Given the description of an element on the screen output the (x, y) to click on. 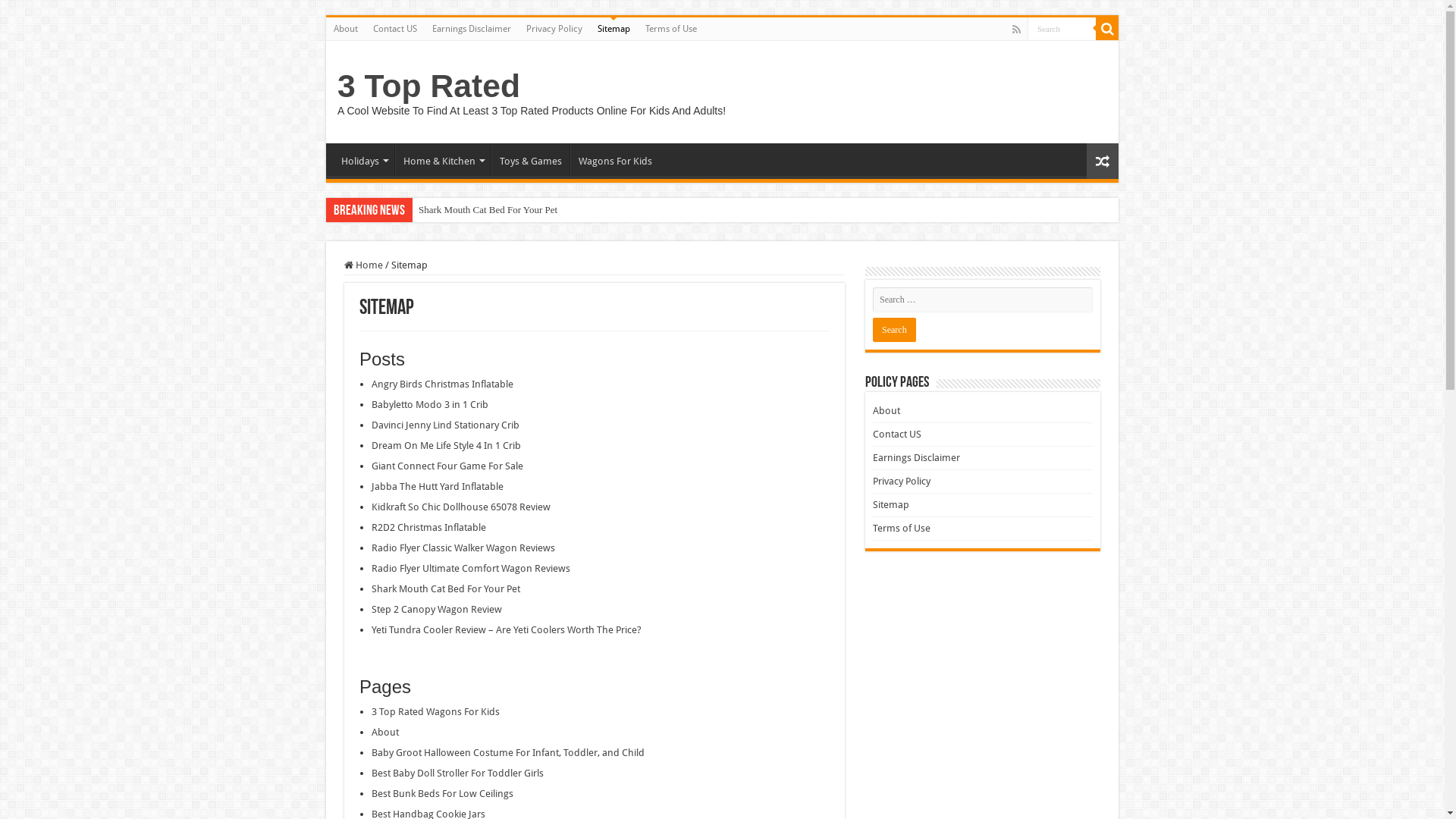
Angry Birds Christmas Inflatable Element type: text (484, 209)
Step 2 Canopy Wagon Review Element type: text (436, 609)
Giant Connect Four Game For Sale Element type: text (447, 465)
Terms of Use Element type: text (901, 527)
Search Element type: hover (1061, 28)
Sitemap Element type: text (613, 28)
Search Element type: text (894, 329)
Best Baby Doll Stroller For Toddler Girls Element type: text (457, 772)
R2D2 Christmas Inflatable Element type: text (428, 527)
About Element type: text (345, 28)
Earnings Disclaimer Element type: text (471, 28)
3 Top Rated Wagons For Kids Element type: text (435, 711)
Search Element type: text (1106, 28)
Baby Groot Halloween Costume For Infant, Toddler, and Child Element type: text (507, 752)
Rss Element type: hover (1016, 29)
Earnings Disclaimer Element type: text (916, 457)
Radio Flyer Classic Walker Wagon Reviews Element type: text (463, 547)
Dream On Me Life Style 4 In 1 Crib Element type: text (445, 445)
Home & Kitchen Element type: text (442, 159)
Radio Flyer Ultimate Comfort Wagon Reviews Element type: text (470, 568)
Holidays Element type: text (363, 159)
Terms of Use Element type: text (670, 28)
Privacy Policy Element type: text (553, 28)
Contact US Element type: text (896, 433)
About Element type: text (886, 410)
Shark Mouth Cat Bed For Your Pet Element type: text (445, 588)
Davinci Jenny Lind Stationary Crib Element type: text (445, 424)
About Element type: text (384, 731)
Privacy Policy Element type: text (901, 480)
3 Top Rated Element type: text (428, 85)
Angry Birds Christmas Inflatable Element type: text (442, 383)
Kidkraft So Chic Dollhouse 65078 Review Element type: text (460, 506)
Babyletto Modo 3 in 1 Crib Element type: text (429, 404)
Jabba The Hutt Yard Inflatable Element type: text (437, 486)
Best Bunk Beds For Low Ceilings Element type: text (442, 793)
Toys & Games Element type: text (530, 159)
Sitemap Element type: text (890, 504)
Contact US Element type: text (394, 28)
Wagons For Kids Element type: text (614, 159)
Home Element type: text (363, 264)
